Given the description of an element on the screen output the (x, y) to click on. 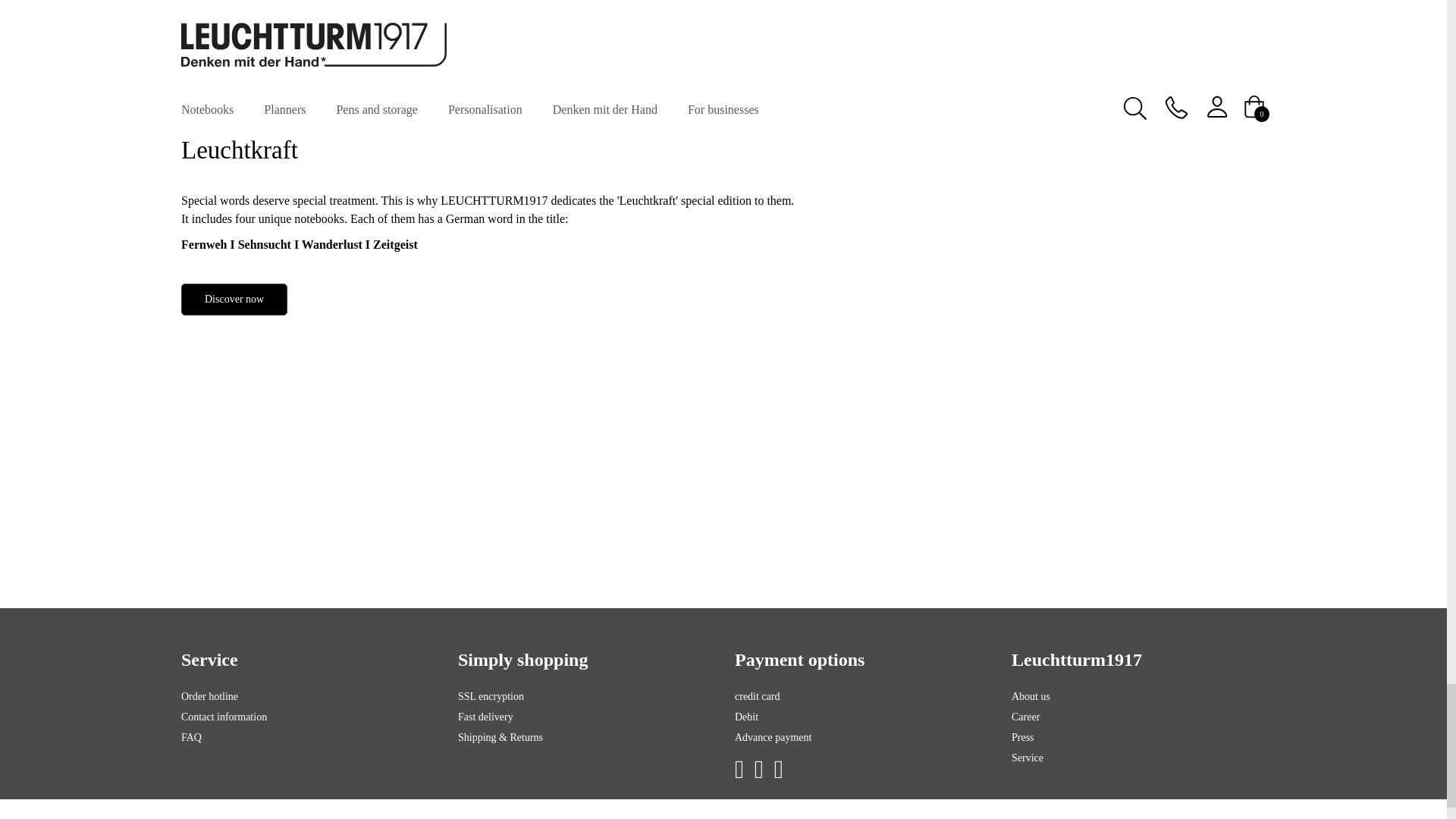
Discover now (233, 299)
